Given the description of an element on the screen output the (x, y) to click on. 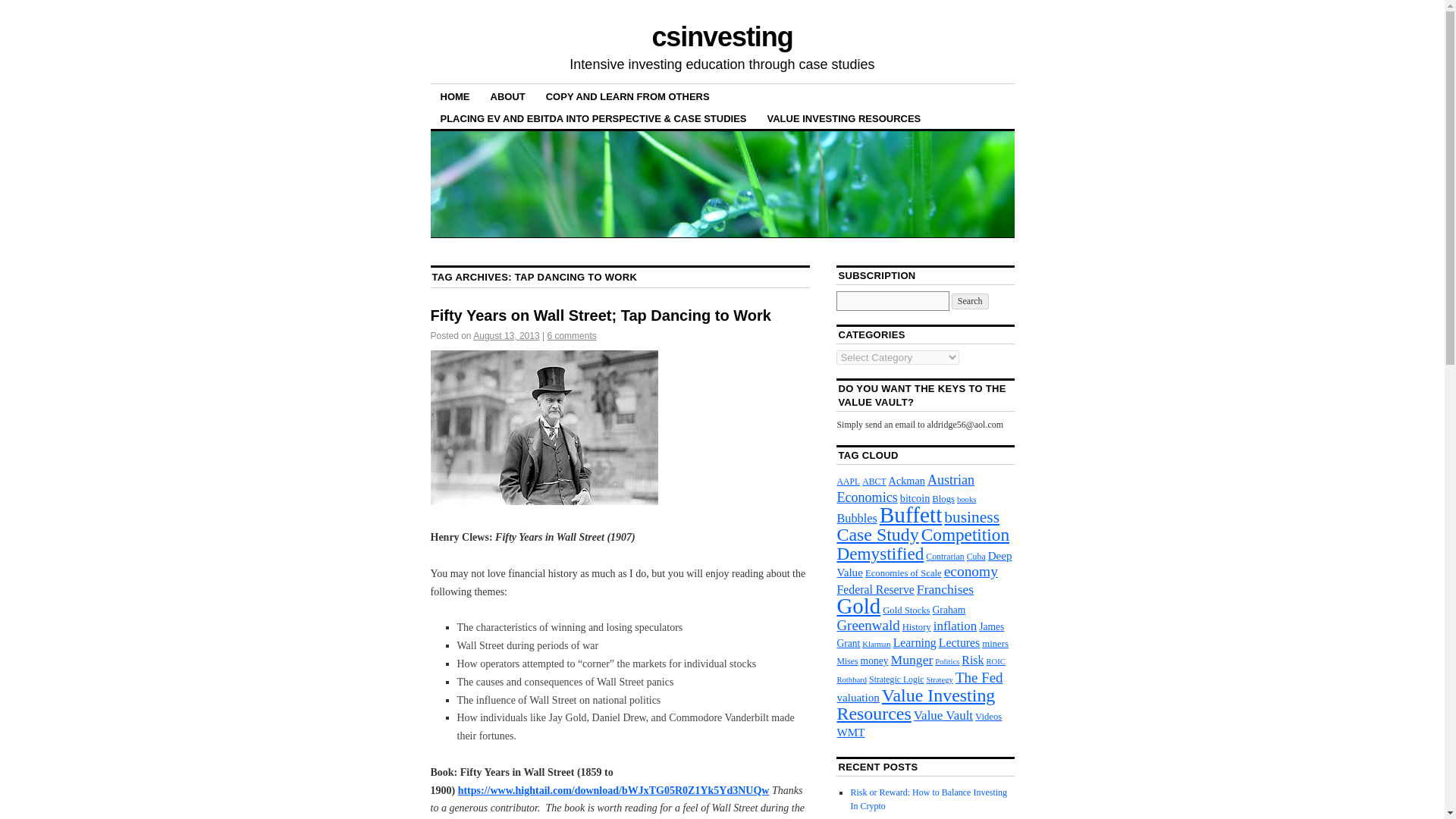
Search (970, 301)
Search (970, 301)
Economies of Scale (903, 573)
August 13, 2013 (505, 335)
COPY AND LEARN FROM OTHERS (627, 96)
Cuba (975, 556)
Case Study (876, 534)
Competition Demystified (922, 543)
2:08 pm (505, 335)
Austrian Economics (904, 488)
